Given the description of an element on the screen output the (x, y) to click on. 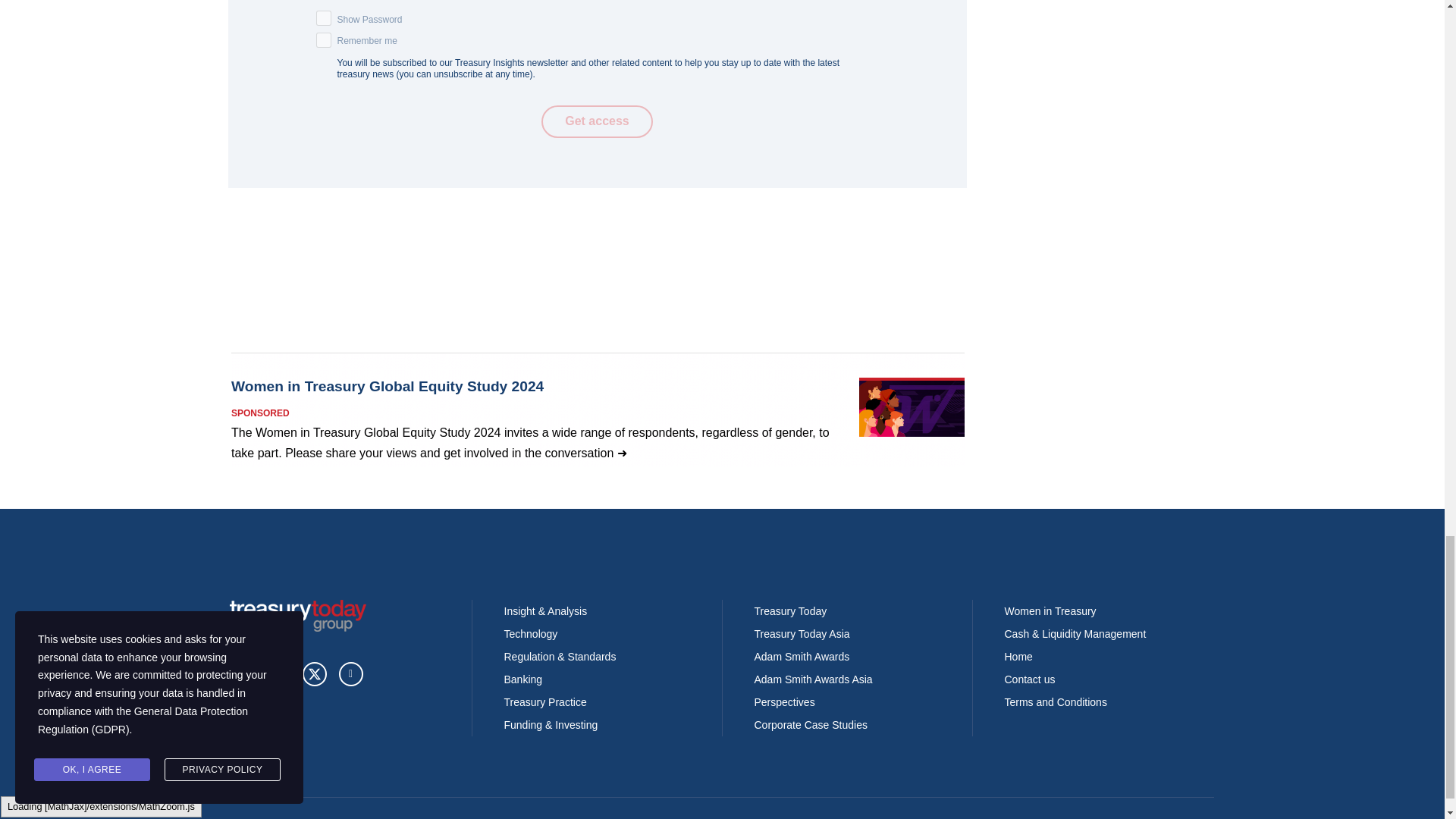
on (322, 39)
3rd party ad content (596, 409)
on (322, 17)
